Given the description of an element on the screen output the (x, y) to click on. 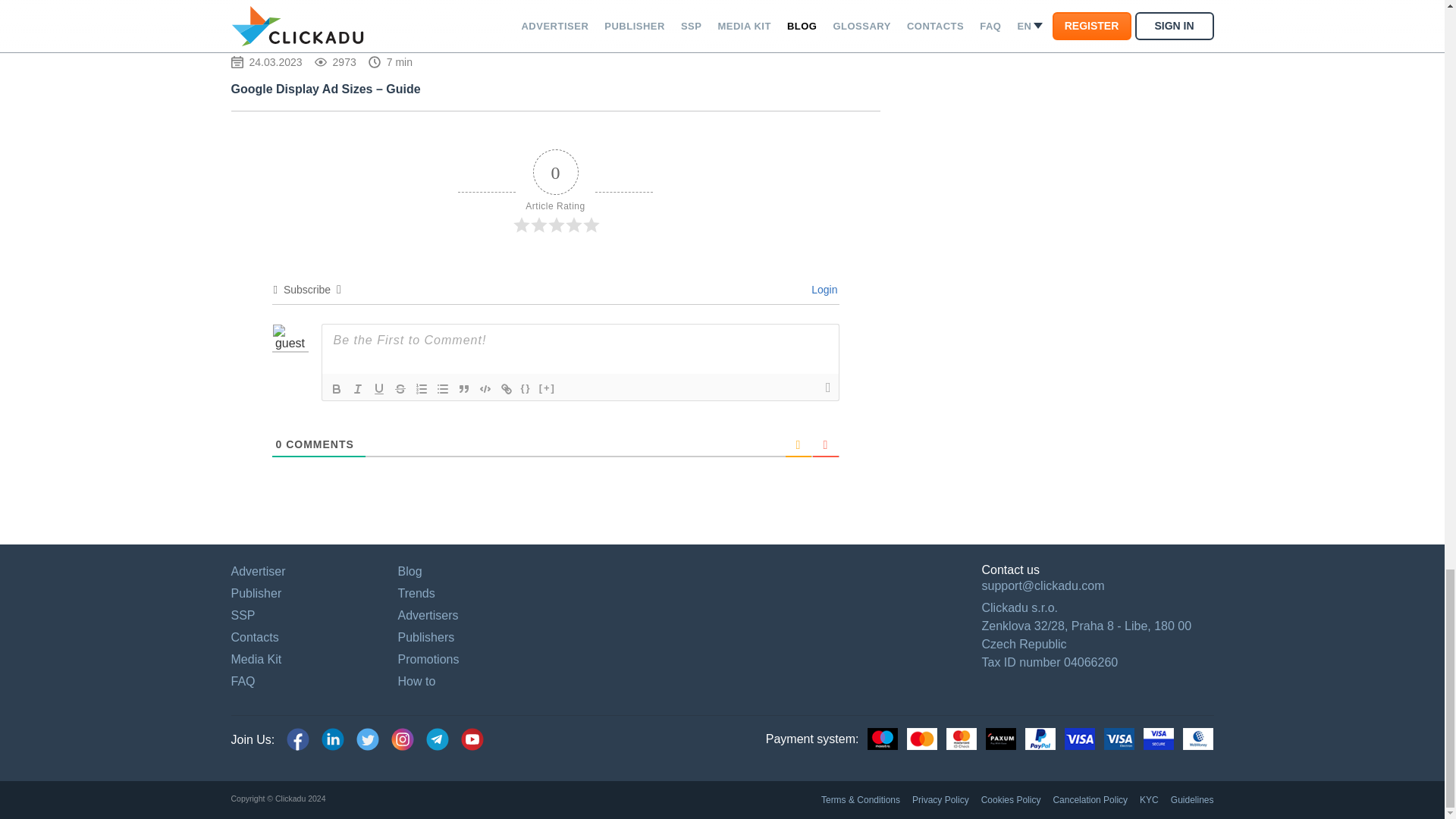
Underline (379, 389)
Italic (357, 389)
Unordered List (442, 389)
Strike (400, 389)
Bold (336, 389)
Link (506, 389)
Code Block (485, 389)
Ordered List (421, 389)
Source Code (525, 389)
Blockquote (463, 389)
Spoiler (547, 389)
